Given the description of an element on the screen output the (x, y) to click on. 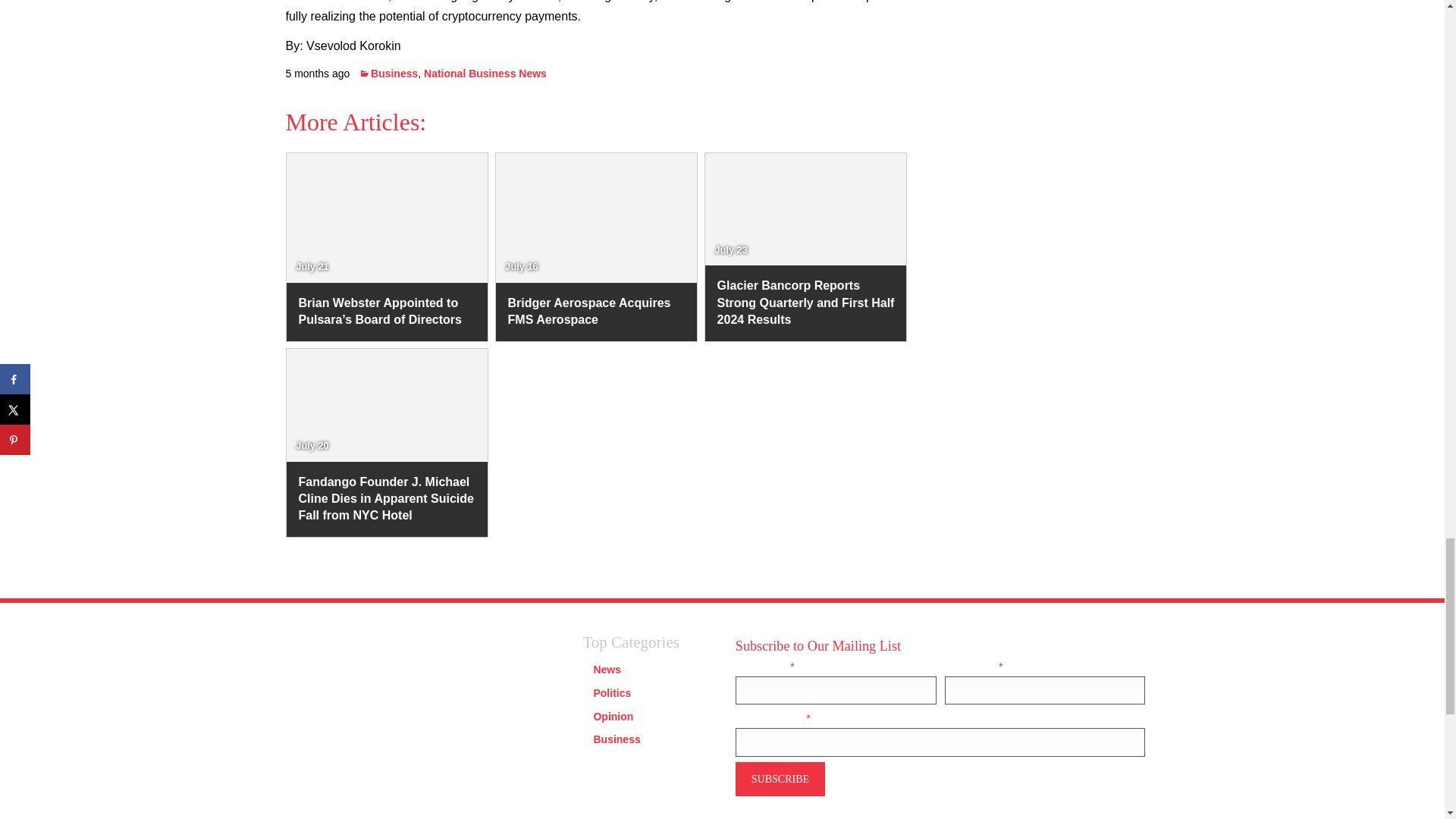
Bridger Aerospace Acquires FMS Aerospace (596, 311)
Business Category (616, 739)
Opinion Category (612, 715)
Business (387, 73)
Subscribe (780, 779)
News (606, 669)
Politics (611, 693)
News Category (606, 669)
Subscribe (780, 779)
Business (616, 739)
Opinion (612, 715)
National Business News (485, 73)
